Given the description of an element on the screen output the (x, y) to click on. 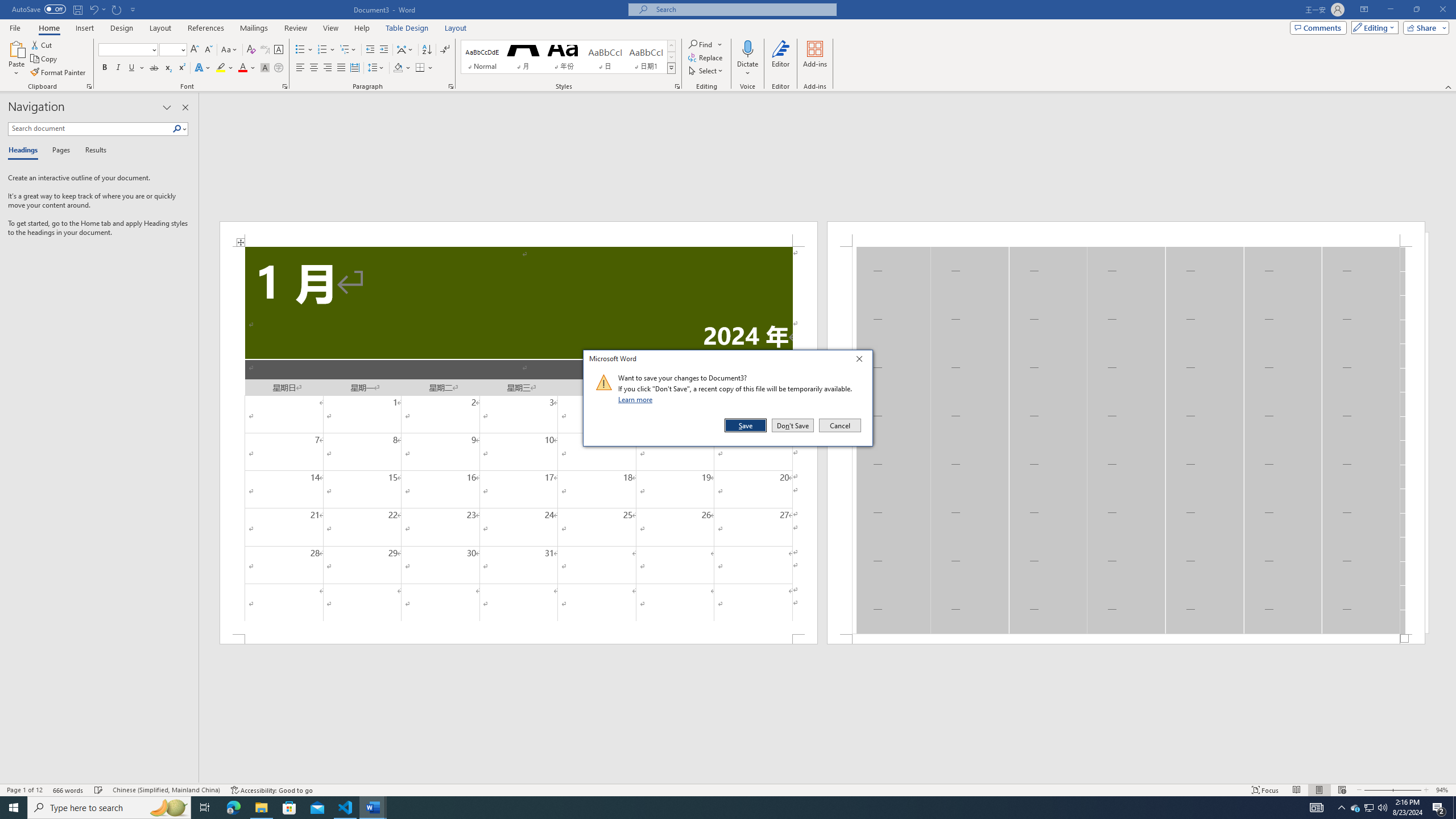
Replace... (705, 56)
Word Count 666 words (68, 790)
AutomationID: QuickStylesGallery (1355, 807)
